Given the description of an element on the screen output the (x, y) to click on. 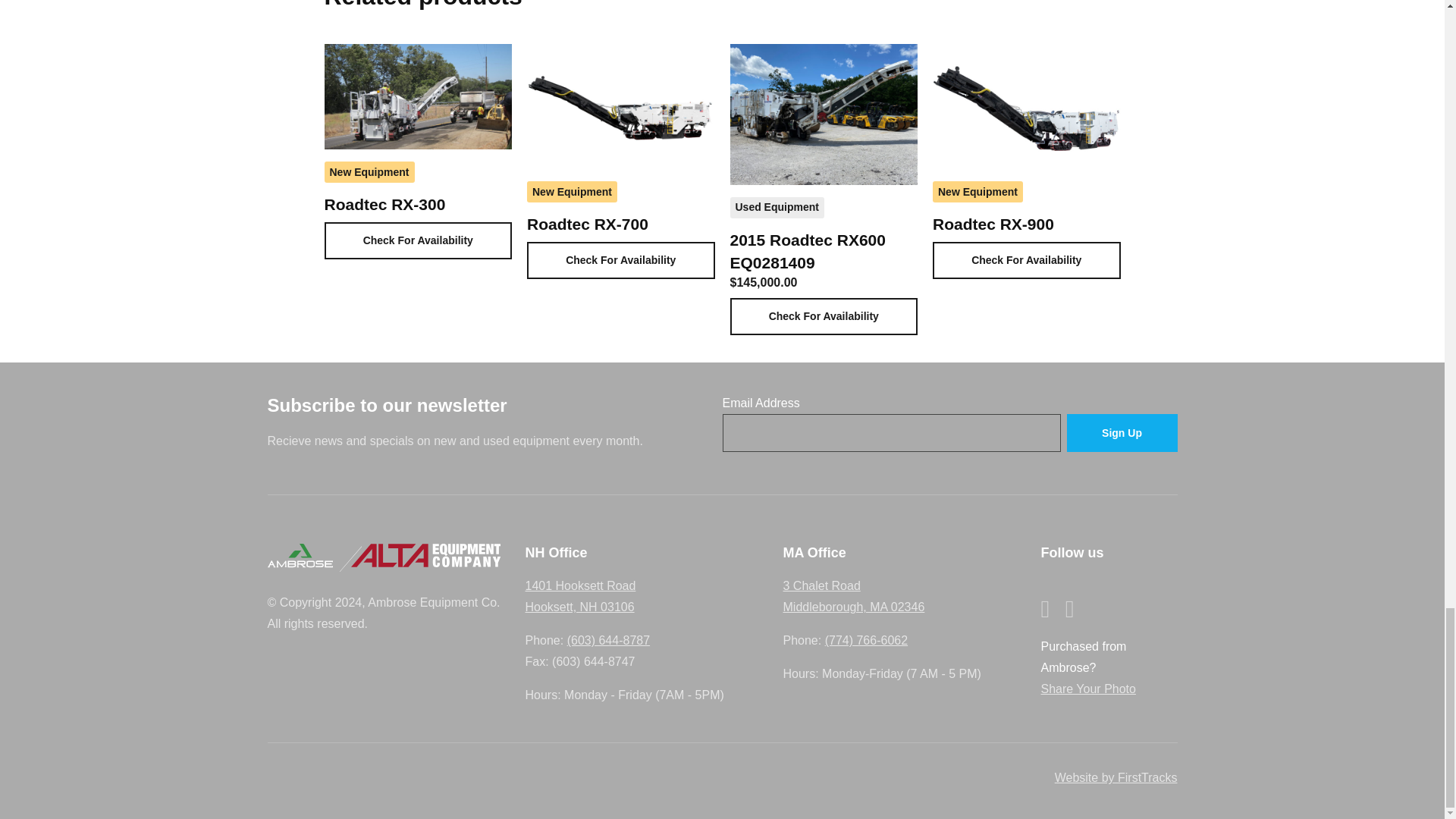
Ambrose logo (298, 555)
Alta logo (425, 554)
Sign Up (1120, 433)
